Given the description of an element on the screen output the (x, y) to click on. 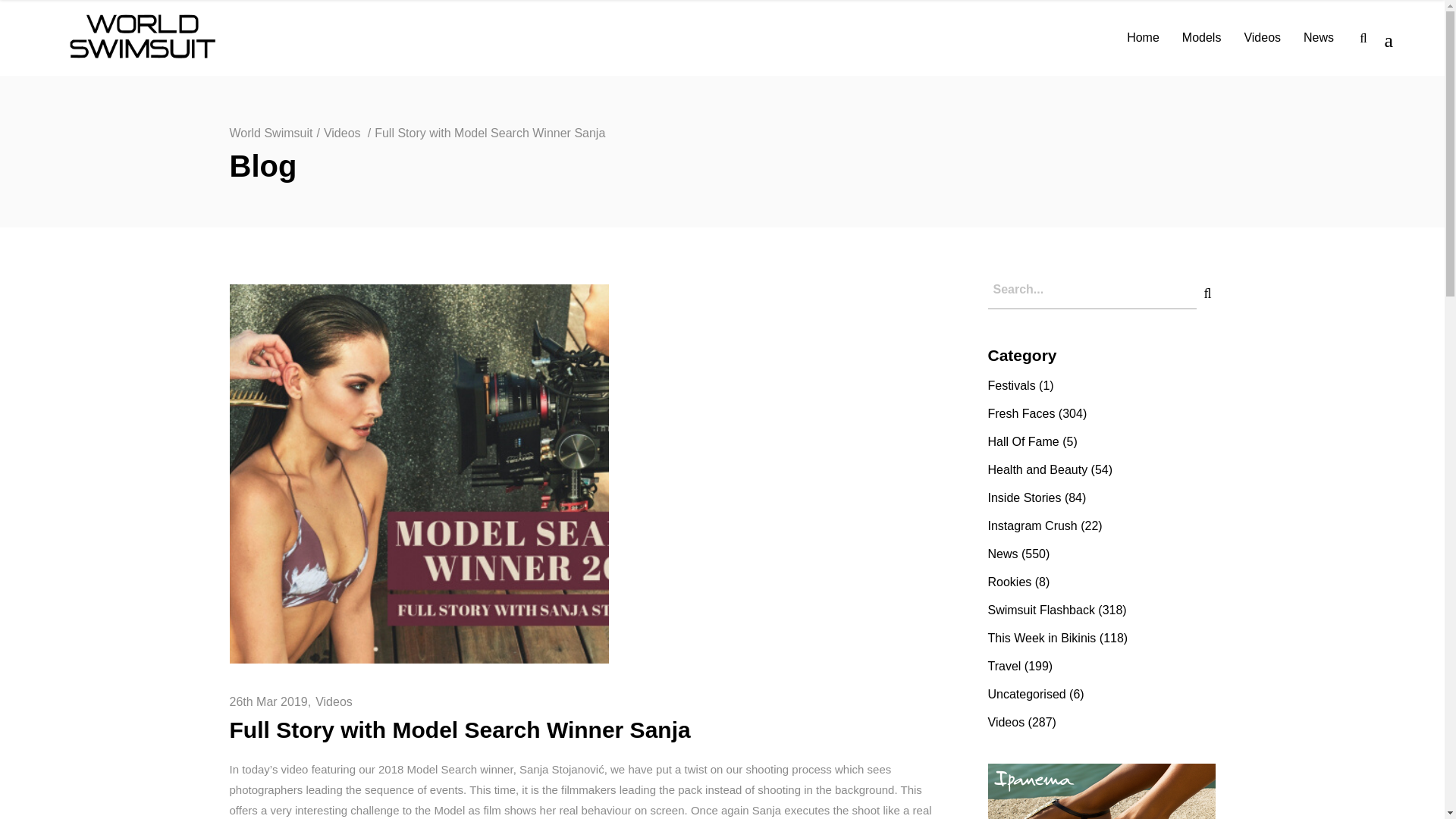
Videos (342, 133)
World Swimsuit (270, 133)
Videos (333, 701)
Festivals (1011, 385)
